Given the description of an element on the screen output the (x, y) to click on. 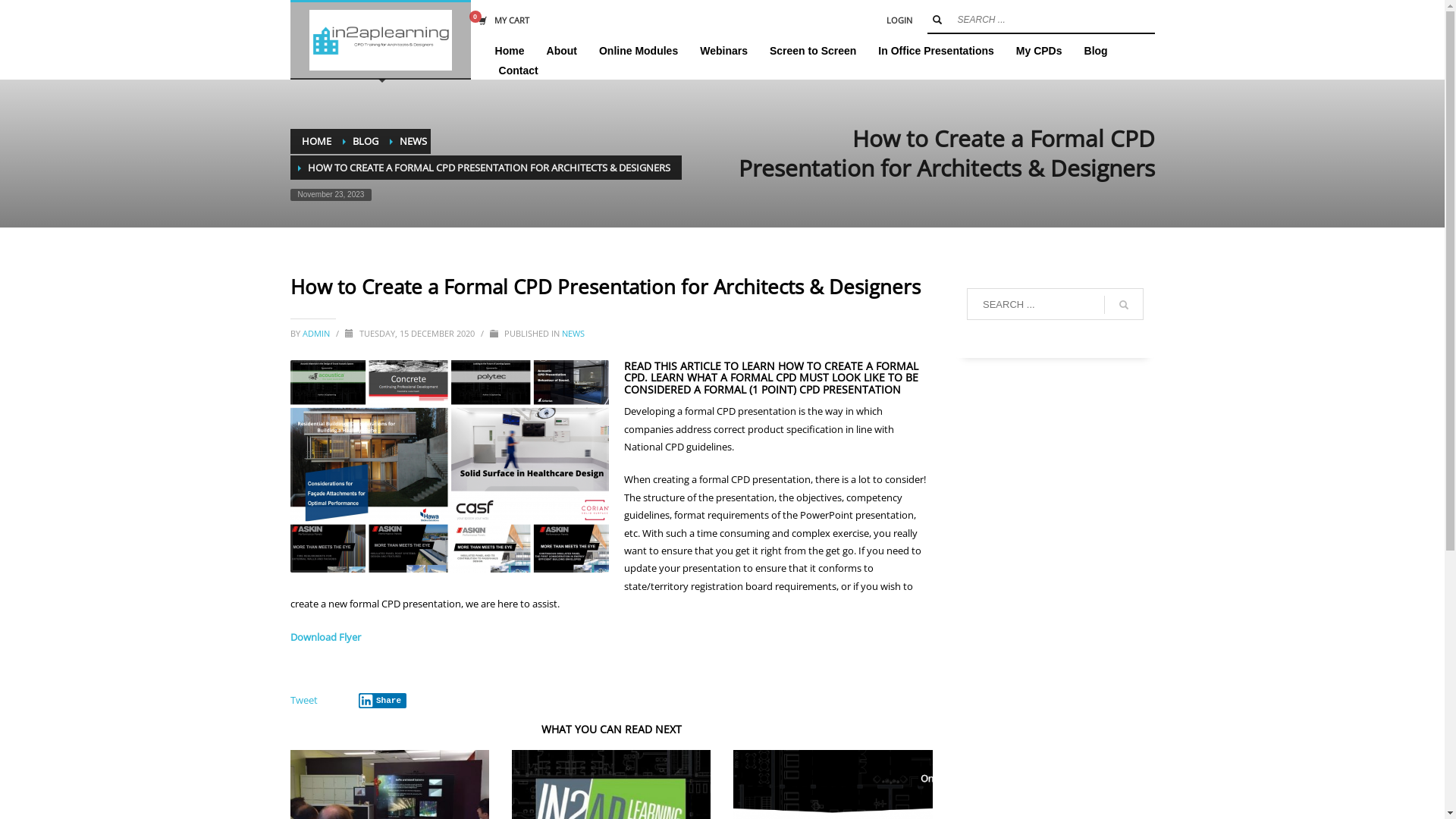
Blog Element type: text (1096, 50)
HOME Element type: text (316, 140)
ADMIN Element type: text (316, 332)
About Element type: text (561, 50)
BLOG Element type: text (364, 140)
Download Flyer Element type: text (324, 636)
Share Element type: text (381, 700)
LOGIN Element type: text (899, 20)
Home Element type: text (509, 50)
Online Modules Element type: text (638, 50)
go Element type: text (936, 19)
go Element type: text (1123, 304)
MY CART Element type: text (499, 20)
Tweet Element type: text (302, 699)
Screen to Screen Element type: text (812, 50)
in2aplearning Collages Element type: hover (448, 466)
NEWS Element type: text (572, 332)
Webinars Element type: text (723, 50)
Contact Element type: text (518, 70)
My CPDs Element type: text (1039, 50)
In Office Presentations Element type: text (935, 50)
IN2AP eLearning Platform Element type: hover (380, 40)
NEWS Element type: text (412, 140)
